Given the description of an element on the screen output the (x, y) to click on. 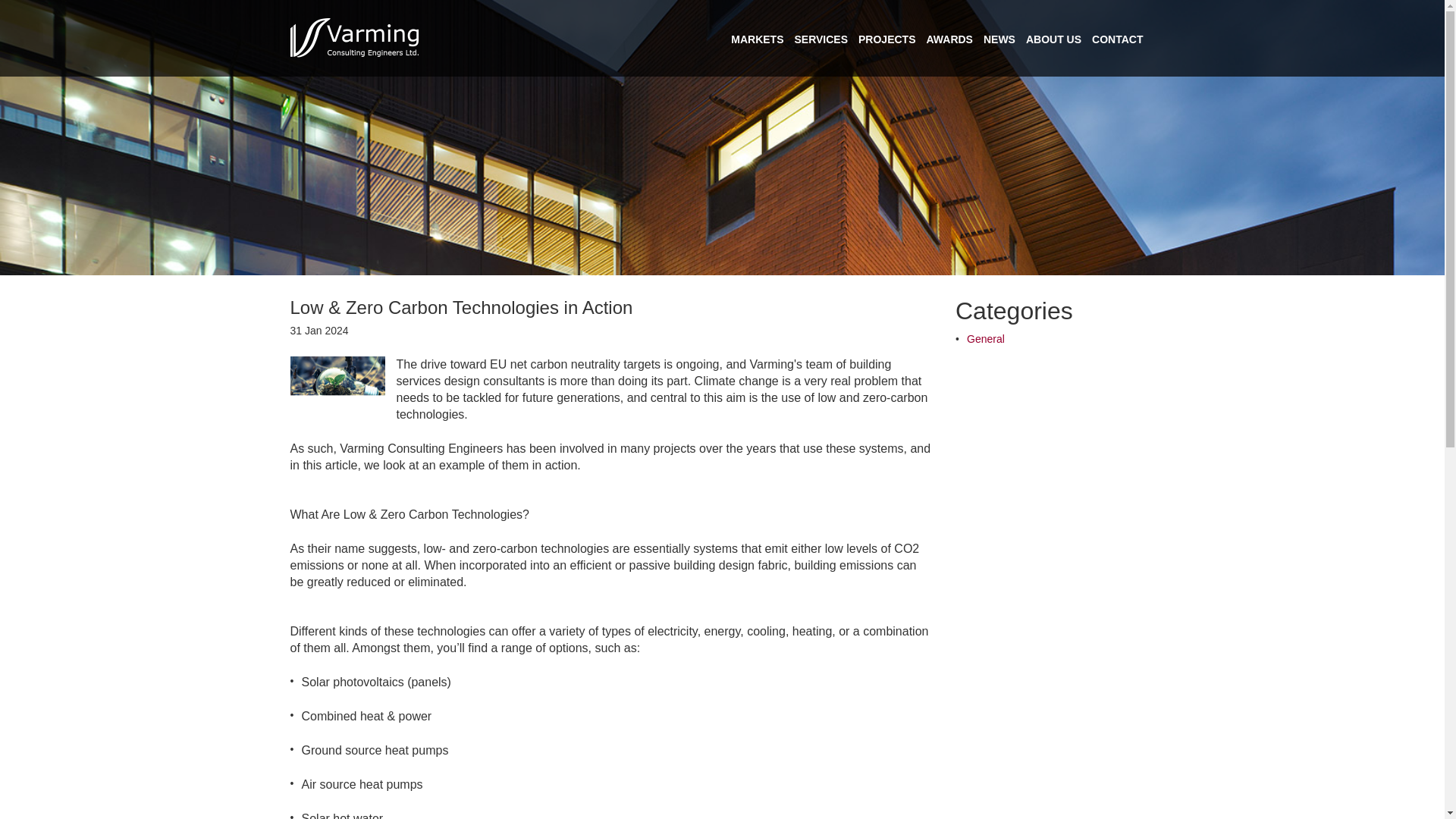
MARKETS (756, 39)
AWARDS (949, 39)
Varming Consulting Engineers (354, 38)
ABOUT US (1053, 39)
NEWS (999, 39)
General (985, 338)
CONTACT (1117, 39)
SERVICES (820, 39)
PROJECTS (887, 39)
